Given the description of an element on the screen output the (x, y) to click on. 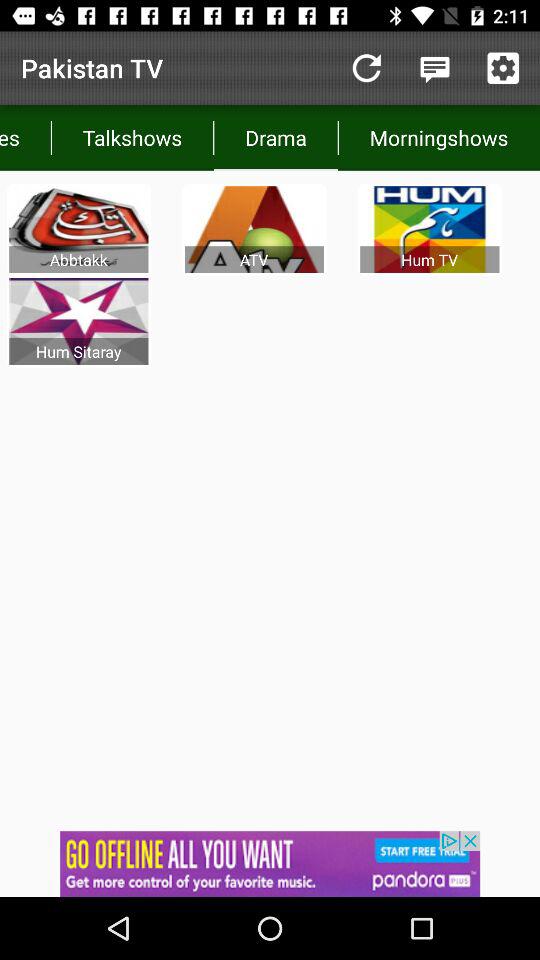
reload button (366, 67)
